Given the description of an element on the screen output the (x, y) to click on. 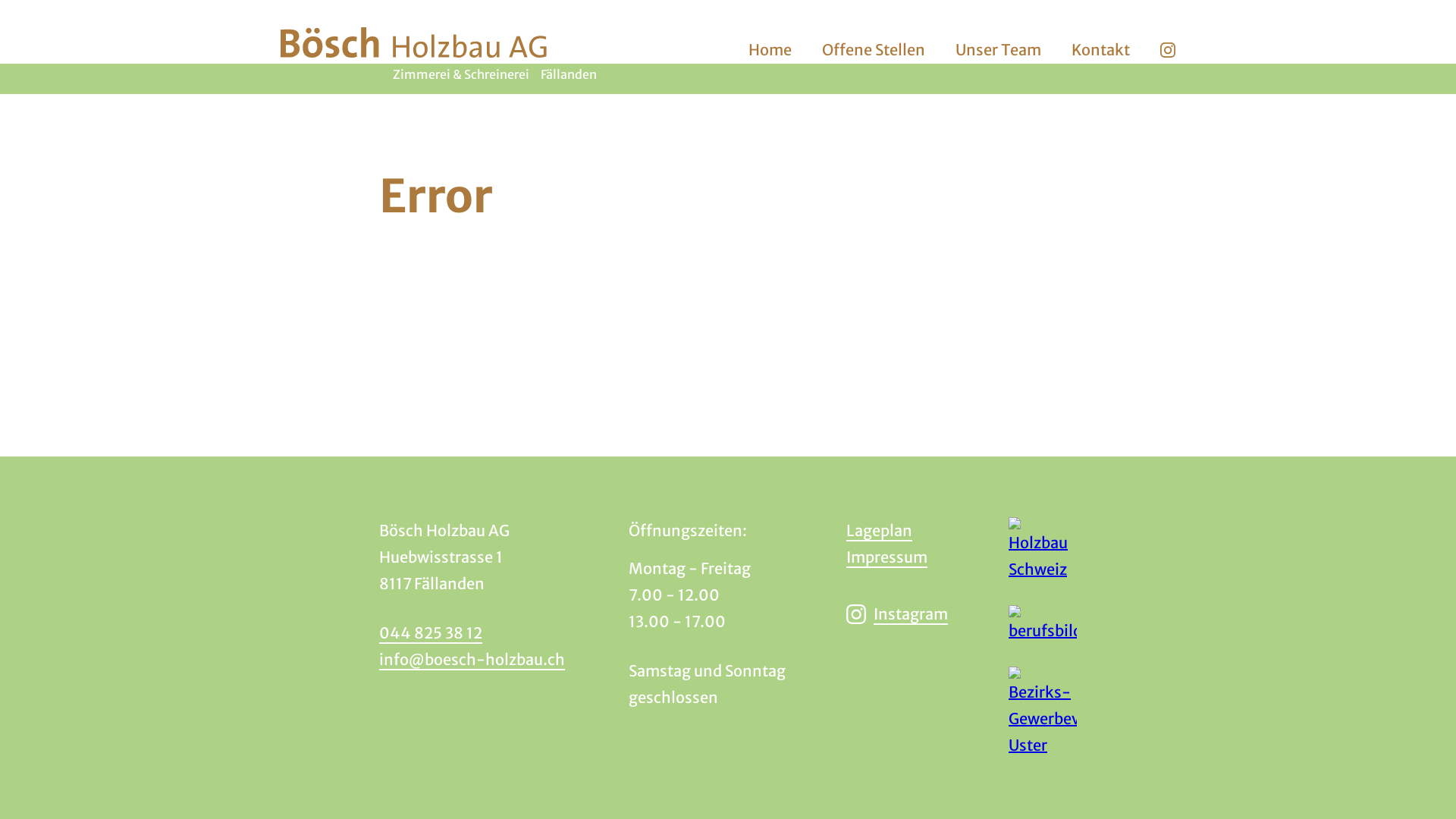
Instagram Element type: text (896, 613)
berufsbildungplus.ch Element type: hover (1042, 624)
Home Element type: text (769, 49)
Lageplan Element type: text (879, 529)
Bezirks-Gewerbeverband Uster Element type: hover (1042, 712)
Holzbau Schweiz Element type: hover (1042, 549)
Kontakt Element type: text (1100, 49)
044 825 38 12 Element type: text (430, 632)
Impressum Element type: text (886, 556)
Unser Team Element type: text (998, 49)
info@boesch-holzbau.ch Element type: text (471, 658)
Offene Stellen Element type: text (873, 49)
